Given the description of an element on the screen output the (x, y) to click on. 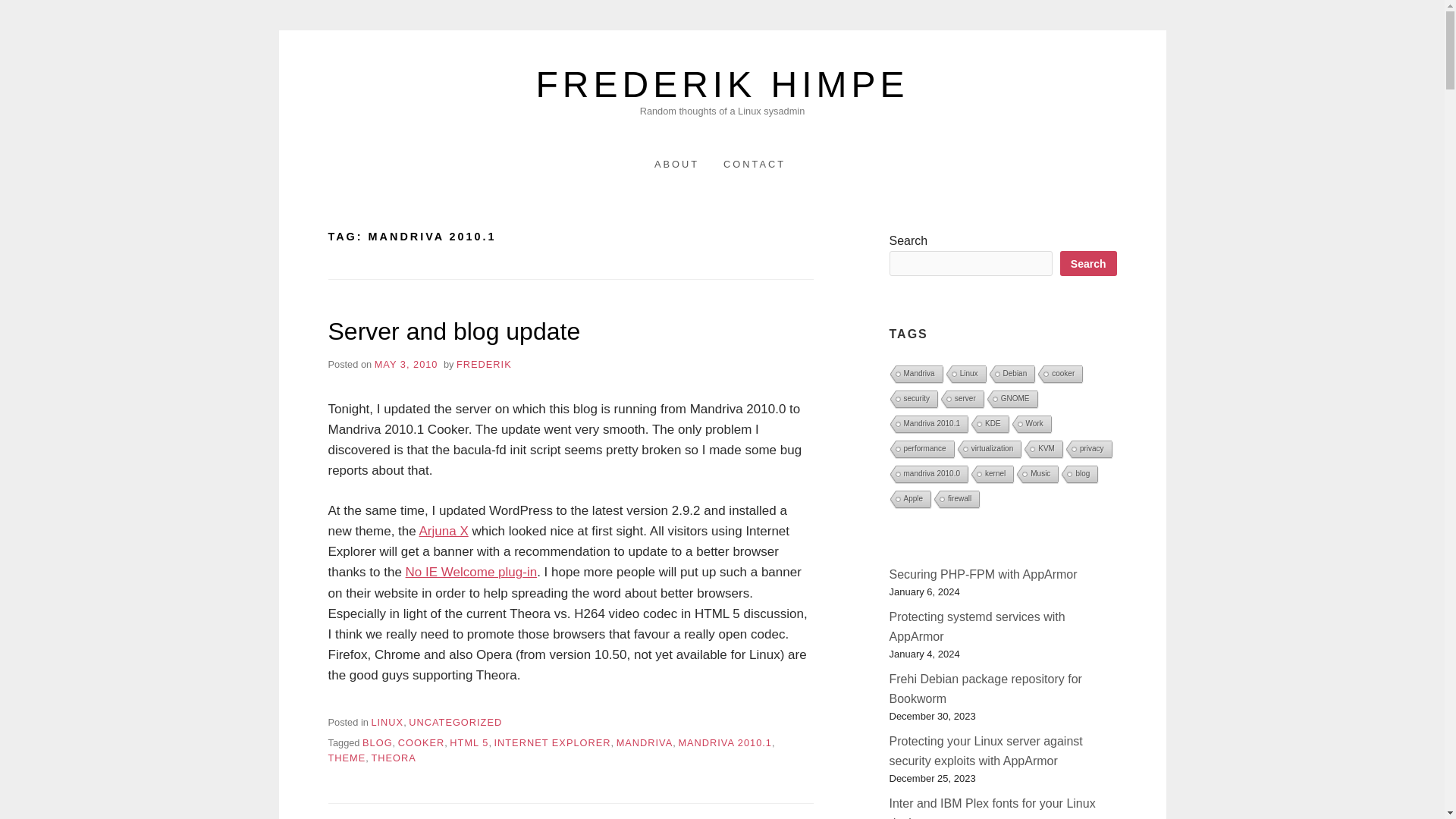
Server and blog update (453, 330)
MAY 3, 2010 (406, 364)
No IE Welcome plug-in (471, 572)
HTML 5 (468, 742)
LINUX (387, 722)
INTERNET EXPLORER (553, 742)
ABOUT (676, 163)
COOKER (420, 742)
THEME (346, 757)
MANDRIVA (643, 742)
BLOG (377, 742)
UNCATEGORIZED (455, 722)
Arjuna X (443, 531)
FREDERIK (484, 364)
